Given the description of an element on the screen output the (x, y) to click on. 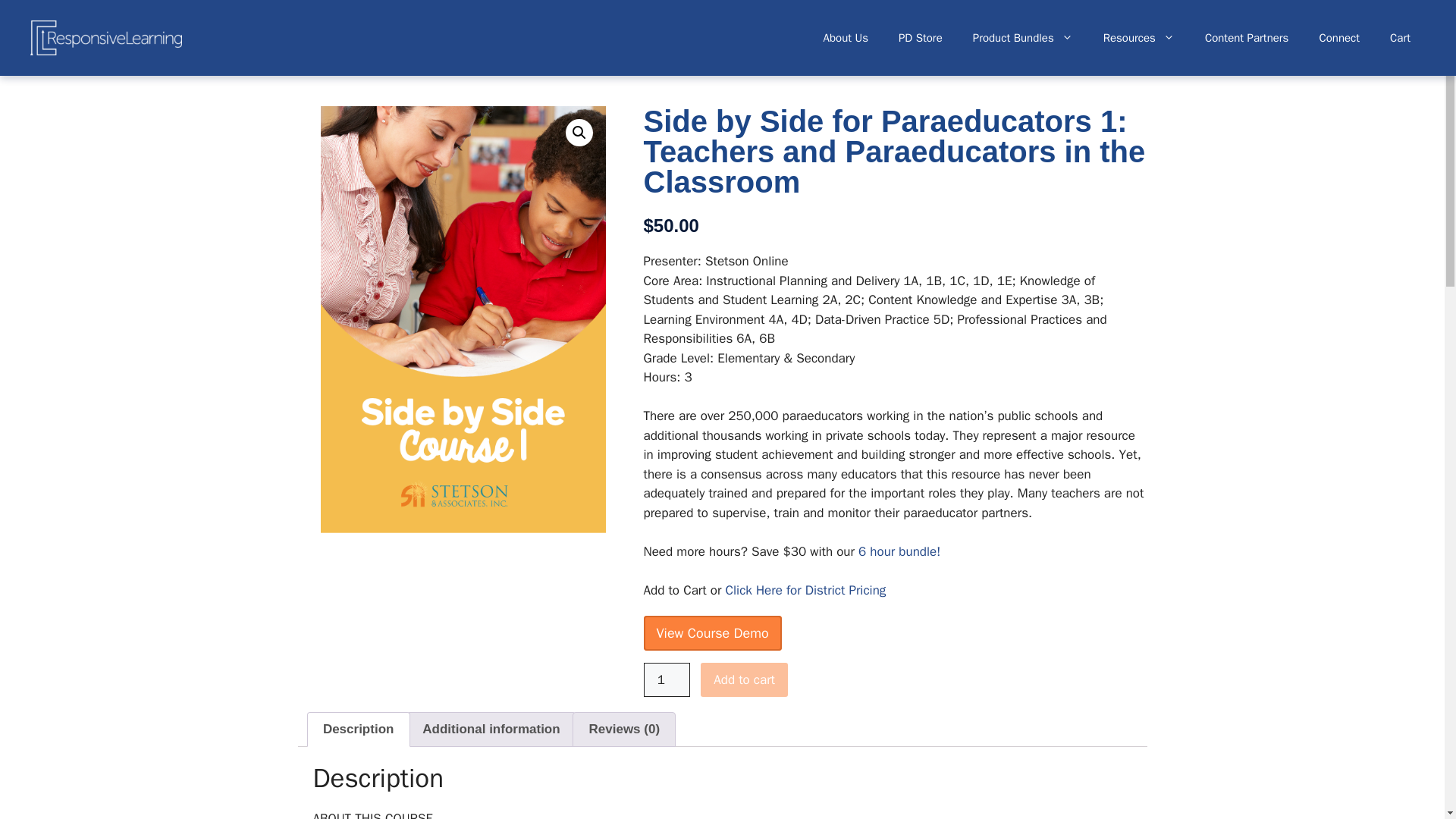
Resources (1138, 37)
6 hour bundle! (899, 550)
Connect (1338, 37)
Cart (1399, 37)
Click Here for District Pricing (805, 590)
PD Store (920, 37)
Content Partners (1246, 37)
1 (666, 679)
Add to cart (743, 679)
Product Bundles (1022, 37)
Additional information (491, 729)
View Course Demo (711, 632)
Description (358, 729)
About Us (845, 37)
